Given the description of an element on the screen output the (x, y) to click on. 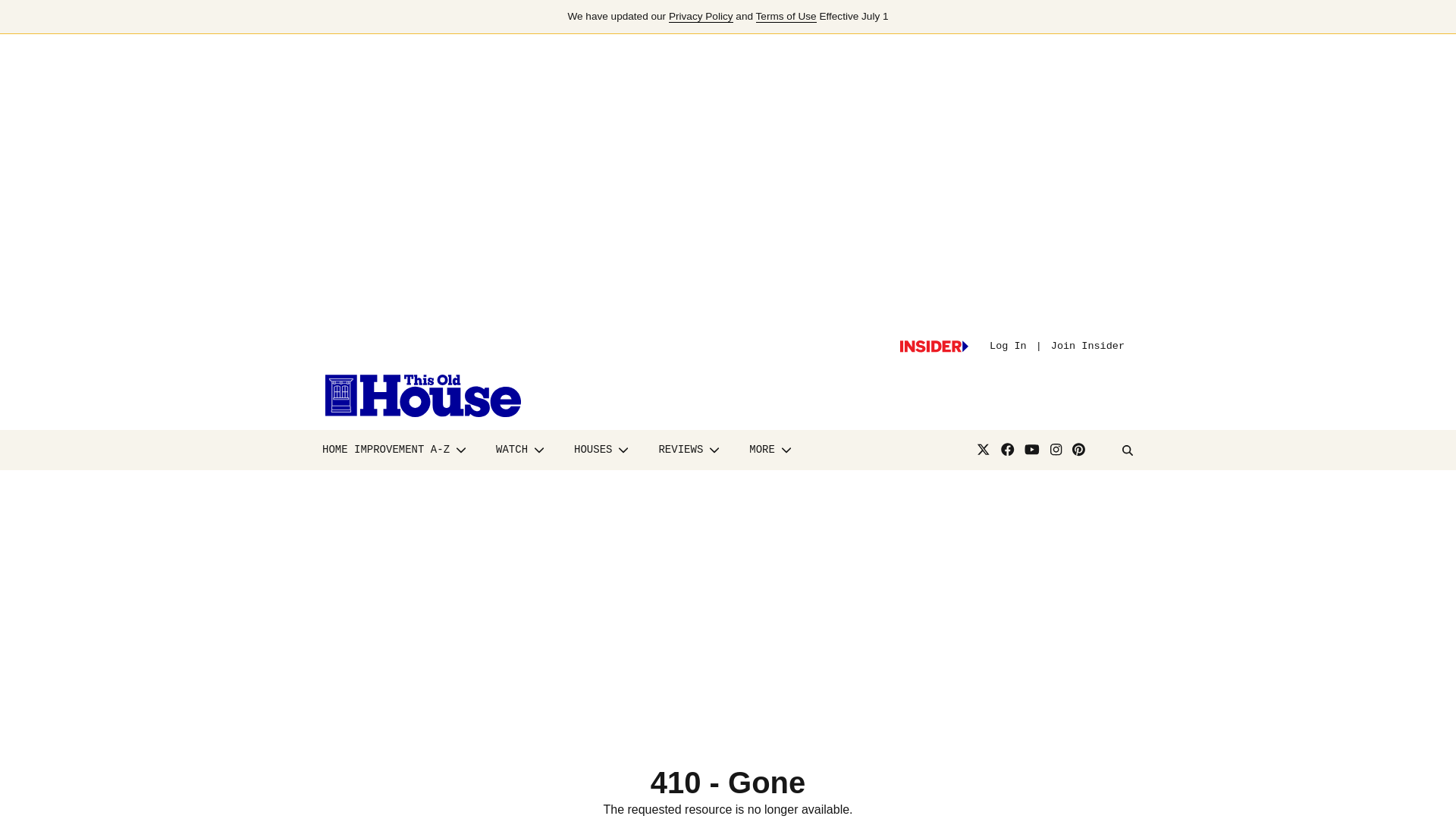
Log In (1008, 346)
Privacy Policy (700, 16)
Join Insider (1087, 346)
Log in or sign up (933, 346)
Terms of Use (785, 16)
